Given the description of an element on the screen output the (x, y) to click on. 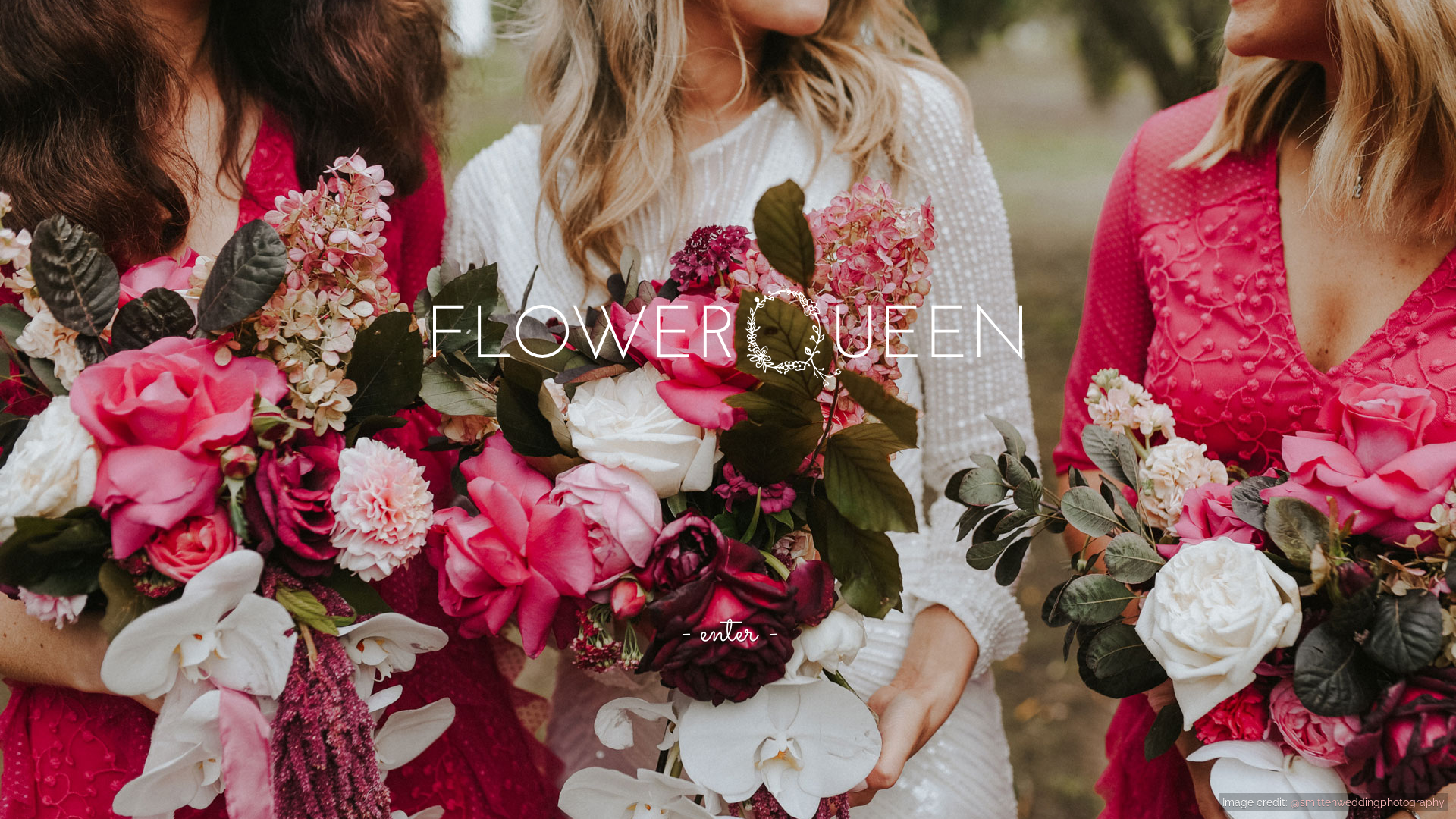
- enter - Element type: text (727, 632)
@smittenweddingphotography Element type: text (1367, 802)
